Given the description of an element on the screen output the (x, y) to click on. 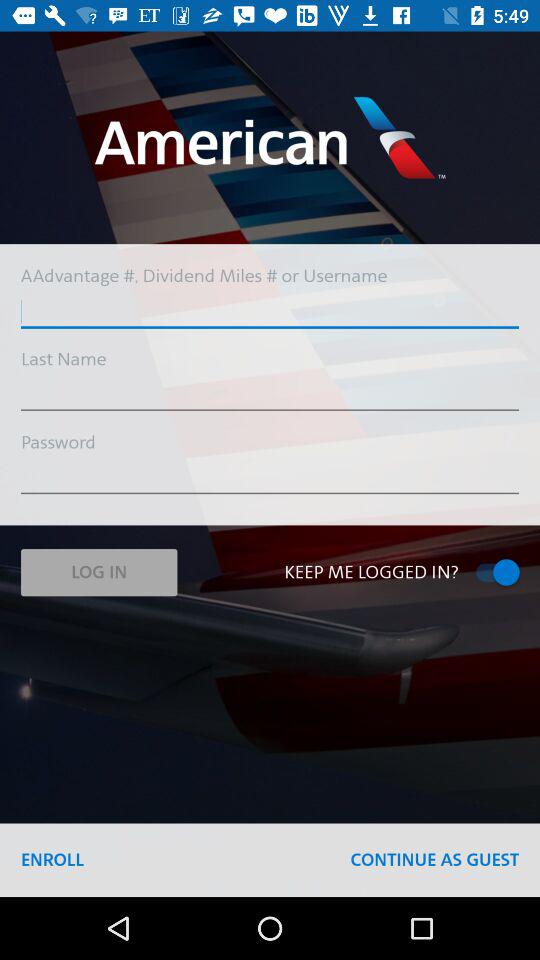
select the icon at the bottom right corner (434, 859)
